Given the description of an element on the screen output the (x, y) to click on. 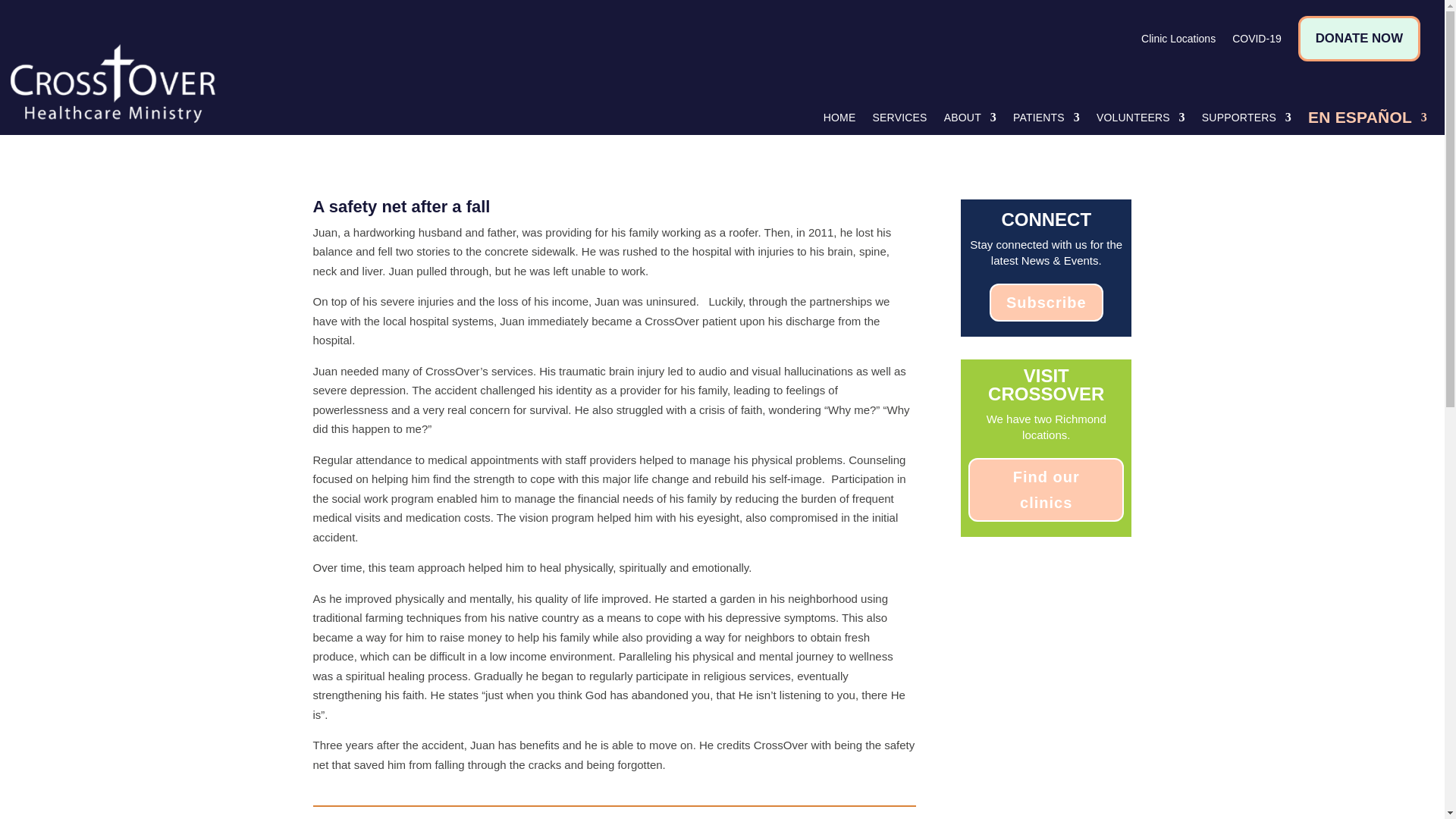
ABOUT (969, 121)
PATIENTS (1046, 121)
COVID-19 (1256, 41)
Clinic Locations (1178, 41)
HOME (840, 121)
VOLUNTEERS (1140, 121)
DONATE NOW (1359, 38)
SUPPORTERS (1246, 121)
SERVICES (899, 121)
